Given the description of an element on the screen output the (x, y) to click on. 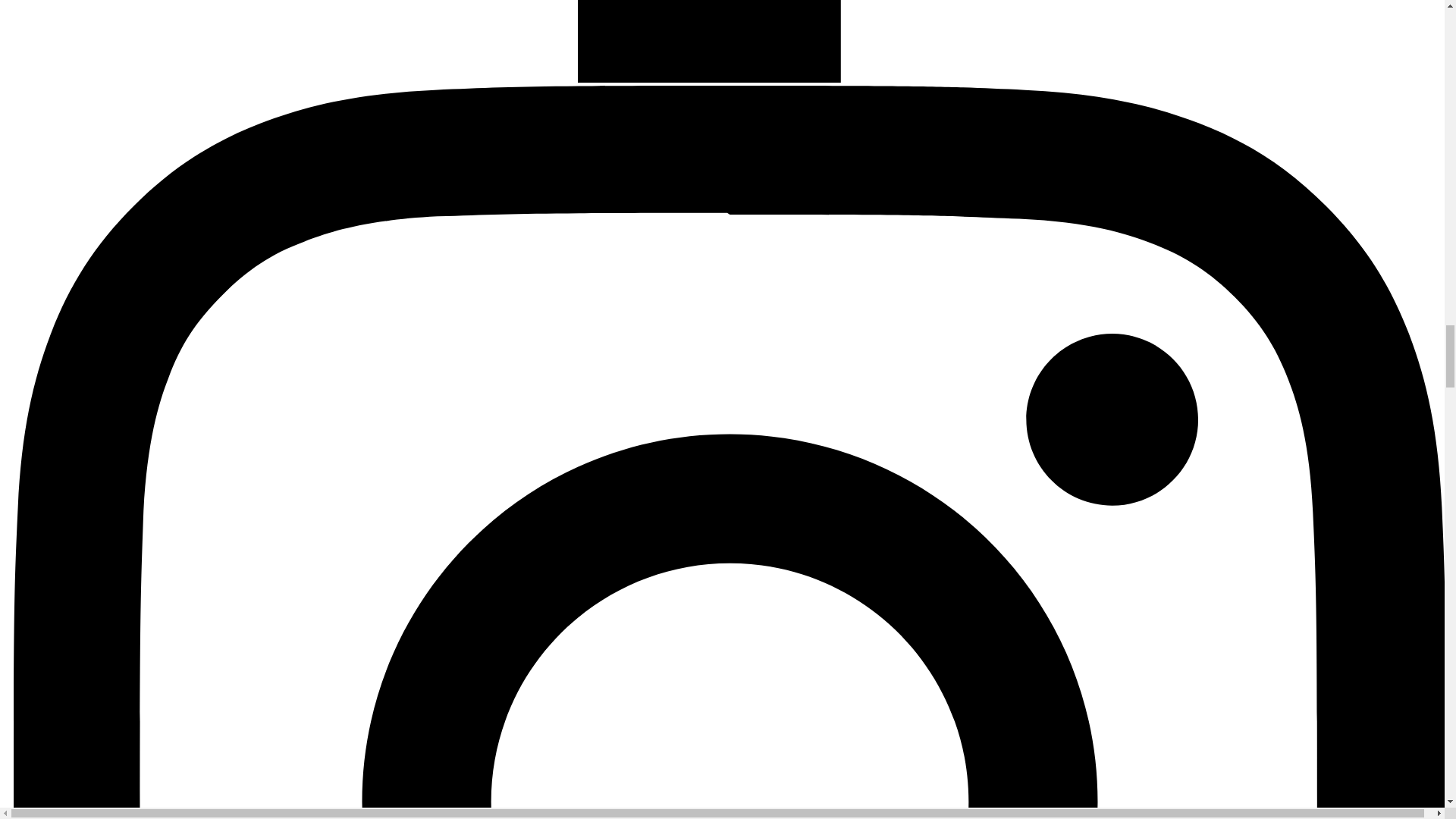
FacebookFacebook (729, 41)
